Given the description of an element on the screen output the (x, y) to click on. 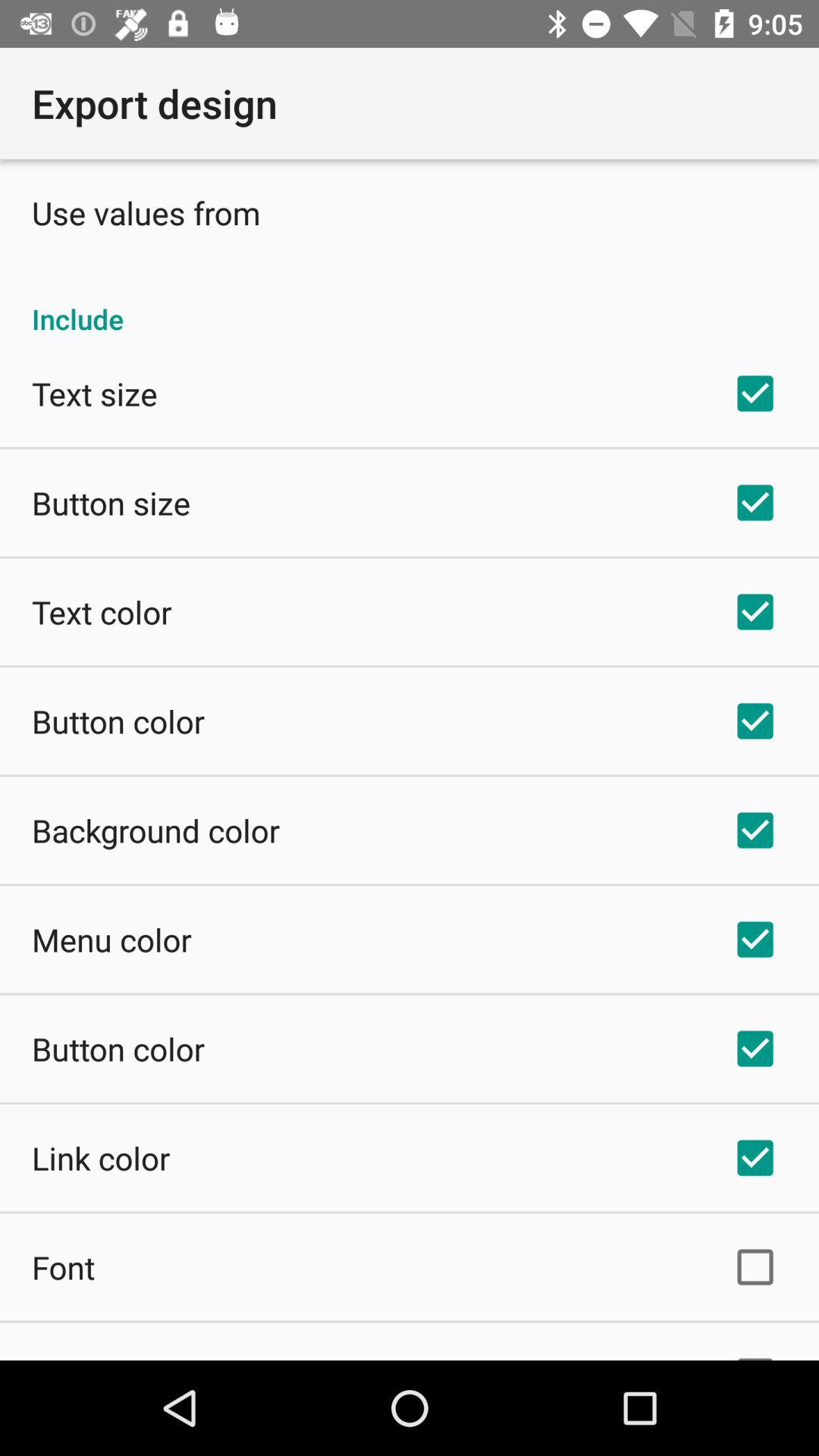
scroll to the button size icon (110, 502)
